Given the description of an element on the screen output the (x, y) to click on. 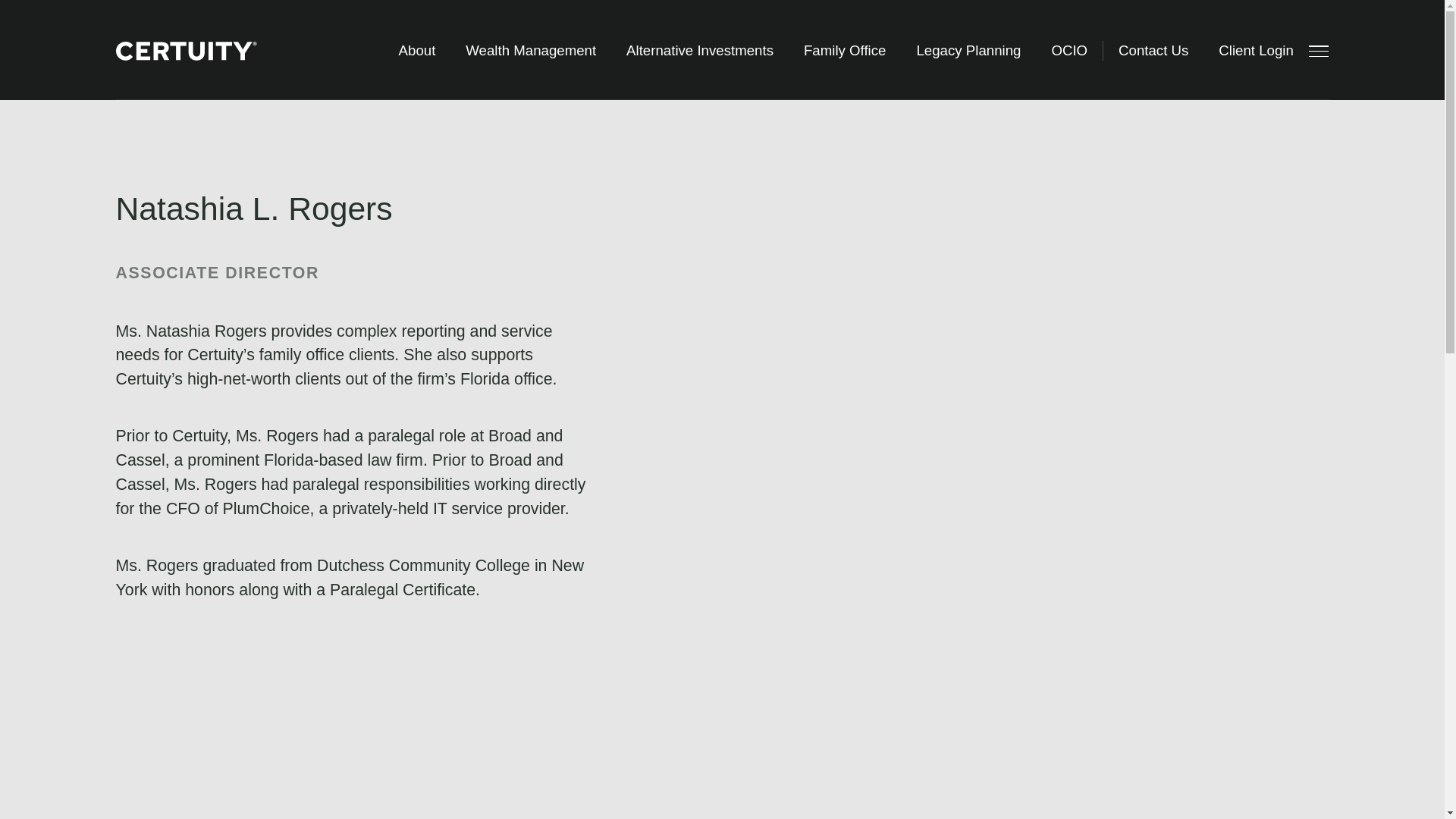
Research (421, 47)
Recognition (429, 10)
OCIO (1068, 50)
Contact Us (1153, 50)
OCIO (647, 47)
About (417, 50)
Certuity (202, 50)
Legacy Planning (685, 10)
Legacy Planning (968, 50)
Family Office (845, 50)
